Given the description of an element on the screen output the (x, y) to click on. 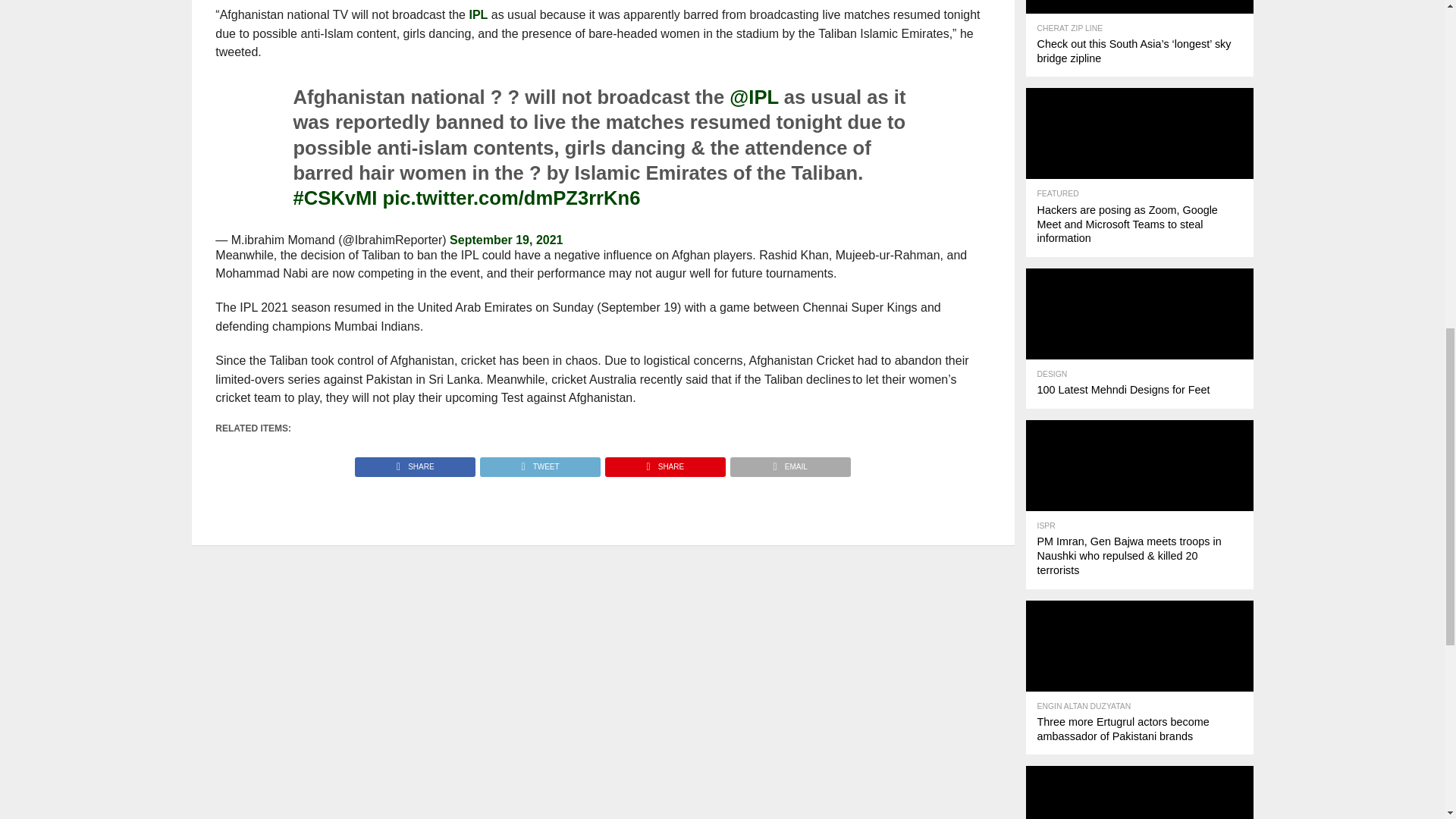
Pin This Post (664, 462)
Share on Facebook (415, 462)
Tweet This Post (539, 462)
